Given the description of an element on the screen output the (x, y) to click on. 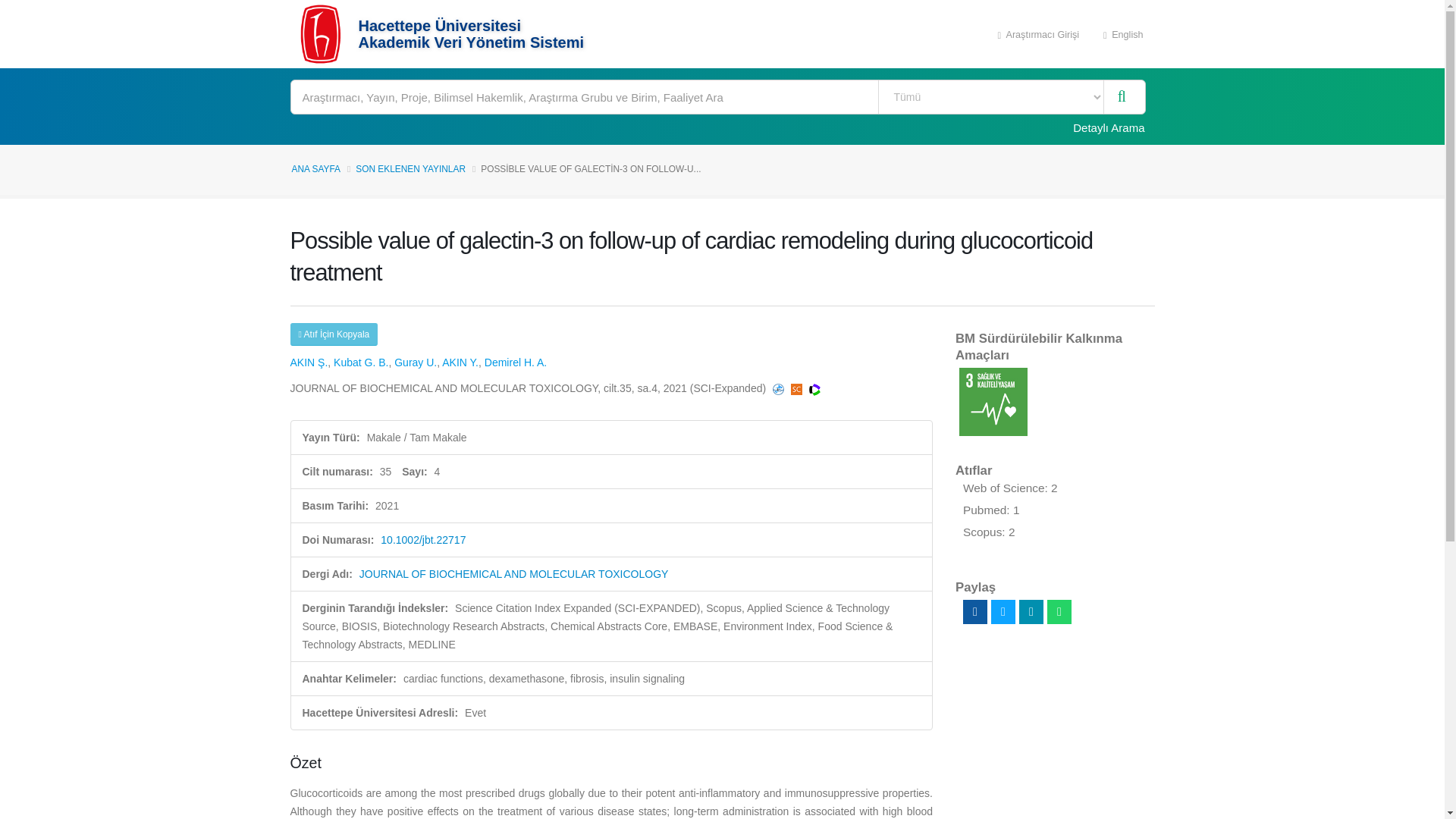
Kubat G. B. (360, 362)
English (1123, 33)
Demirel H. A. (515, 362)
Gokhan B. Kubat (360, 362)
SON EKLENEN YAYINLAR (410, 168)
Umit Guray (415, 362)
ANA SAYFA (315, 168)
JOURNAL OF BIOCHEMICAL AND MOLECULAR TOXICOLOGY (513, 573)
Guray U. (415, 362)
AKIN Y. (460, 362)
